Given the description of an element on the screen output the (x, y) to click on. 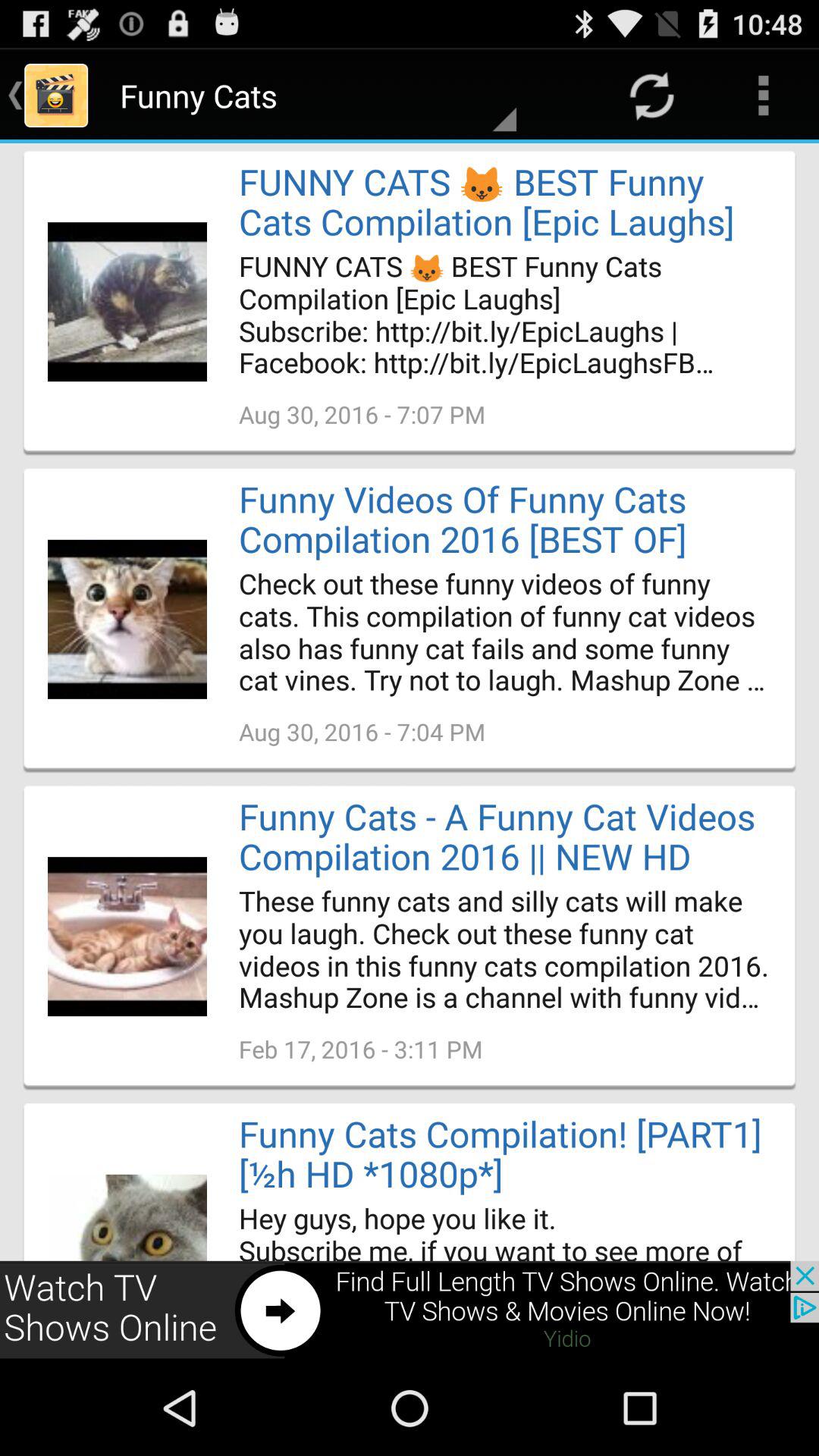
view advertisement (409, 1310)
